Given the description of an element on the screen output the (x, y) to click on. 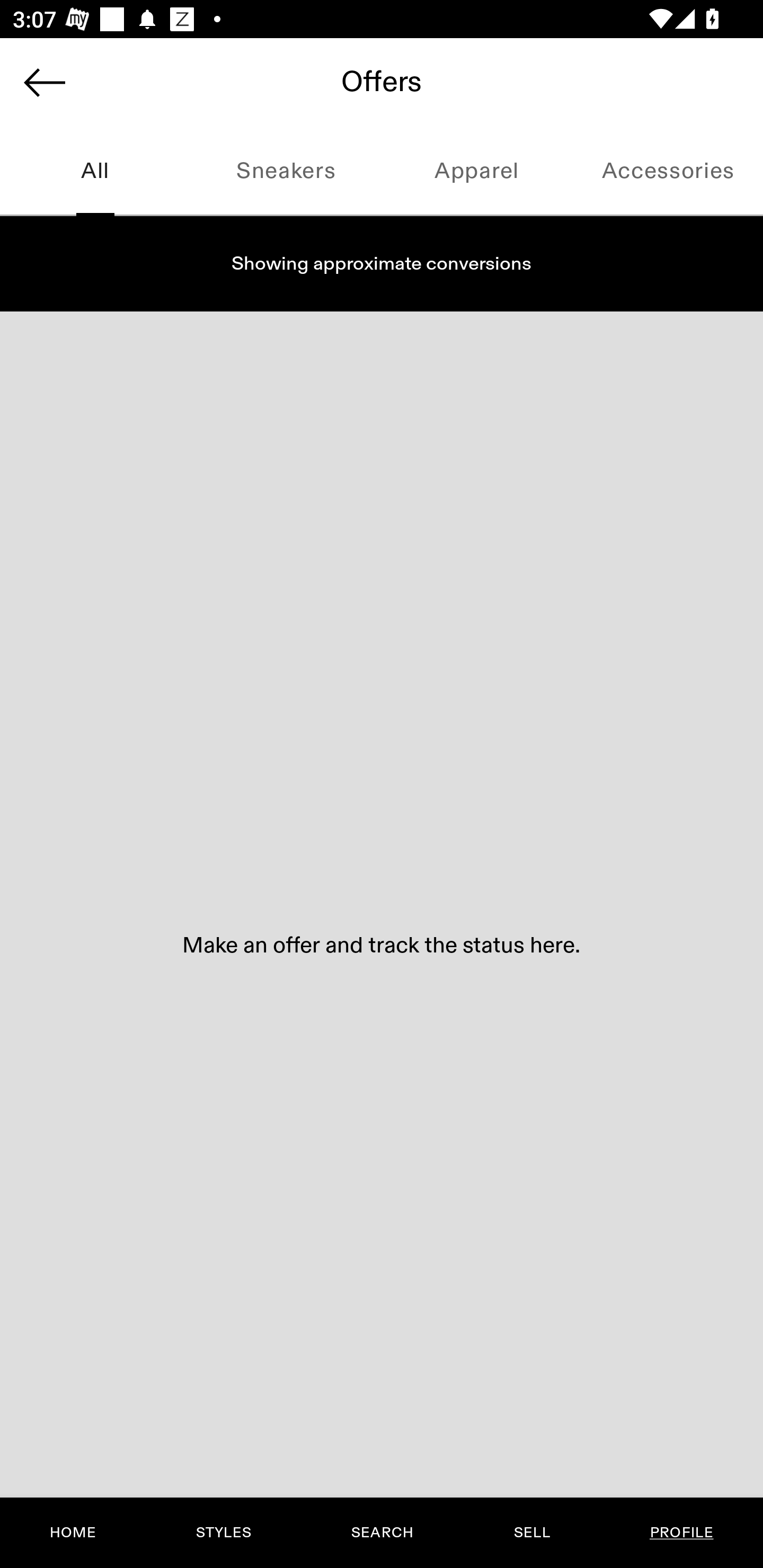
Sneakers (285, 171)
Apparel (476, 171)
Accessories (667, 171)
HOME (72, 1532)
STYLES (222, 1532)
SEARCH (381, 1532)
SELL (531, 1532)
PROFILE (681, 1532)
